Given the description of an element on the screen output the (x, y) to click on. 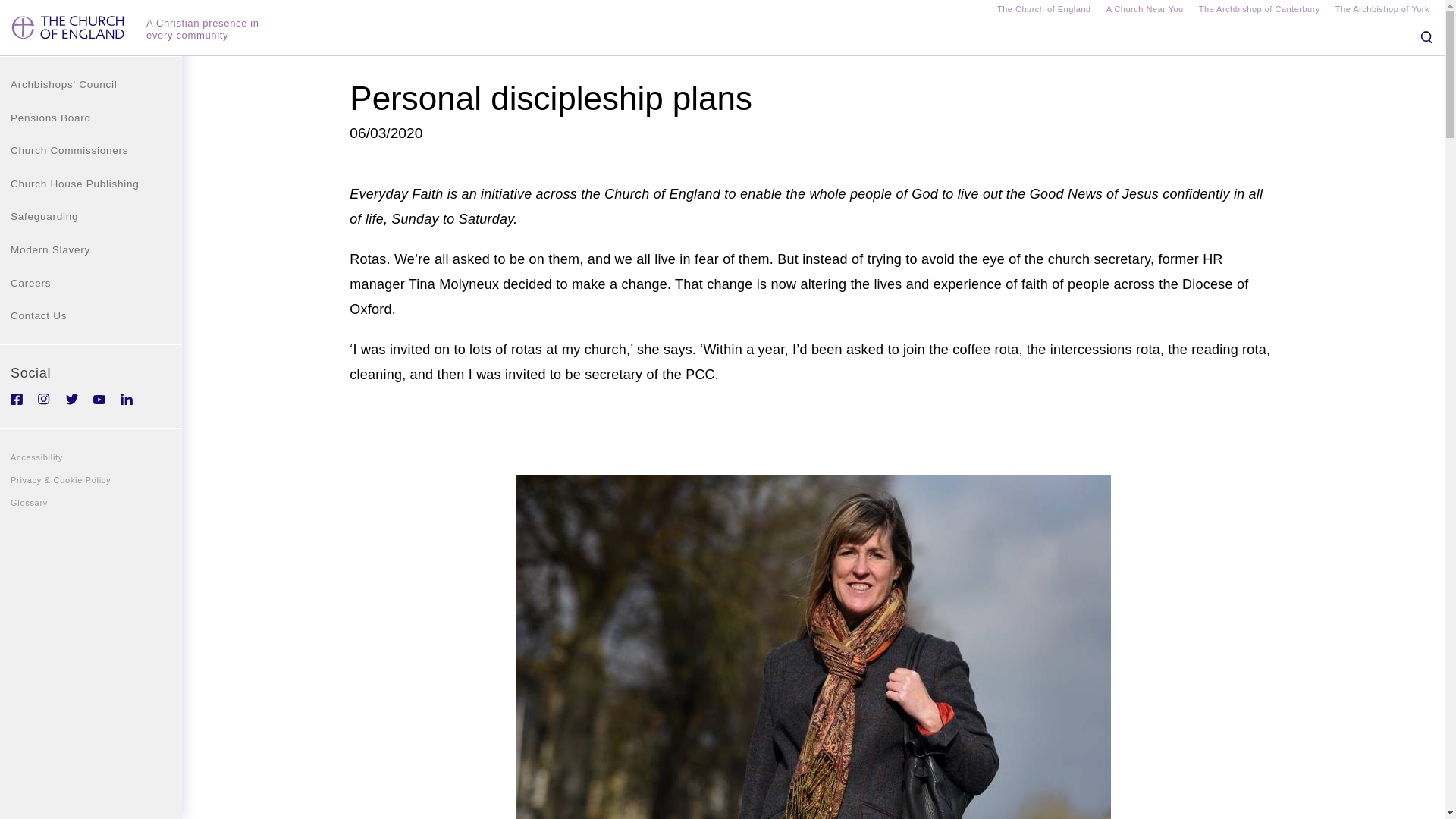
Accessibility (91, 456)
Pensions Board (91, 118)
Accessibility (91, 456)
Glossary (91, 502)
The Church of England (1043, 10)
Church House Publishing (91, 183)
Safeguarding  (91, 216)
The Archbishop of Canterbury (1259, 10)
Home (69, 33)
